Given the description of an element on the screen output the (x, y) to click on. 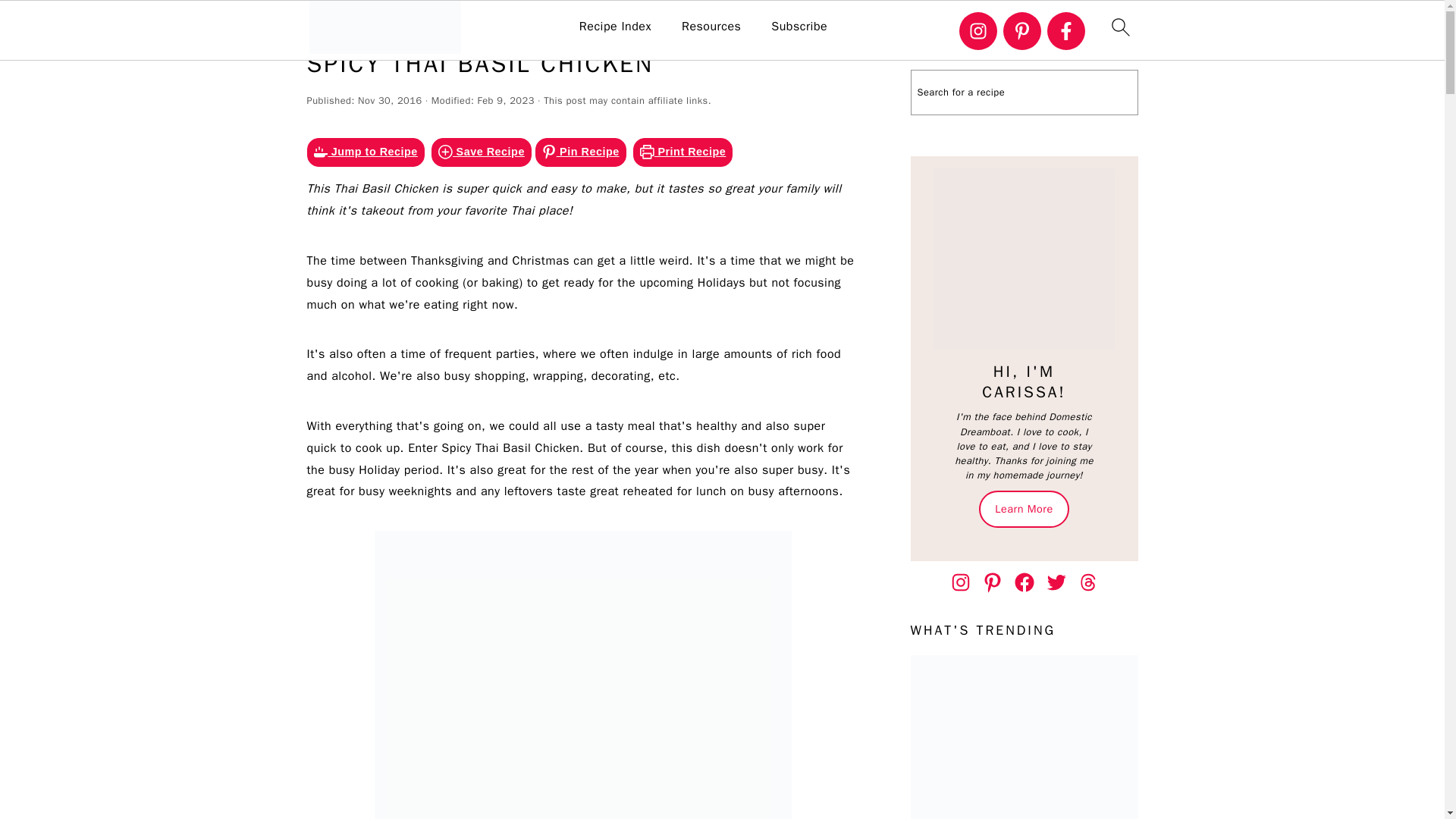
Spicy Thai Basil Chicken (583, 674)
Home (403, 21)
Subscribe (799, 26)
Jump to Recipe (364, 152)
Recipe Index (614, 26)
Resources (711, 26)
Pin Recipe (580, 152)
Modern Sidebar (1024, 258)
How to Make Spreadable Butter (1023, 737)
Entrees (525, 21)
Jump to Recipe (364, 152)
Dish Type (461, 21)
search icon (1119, 26)
Save Recipe (480, 152)
